Given the description of an element on the screen output the (x, y) to click on. 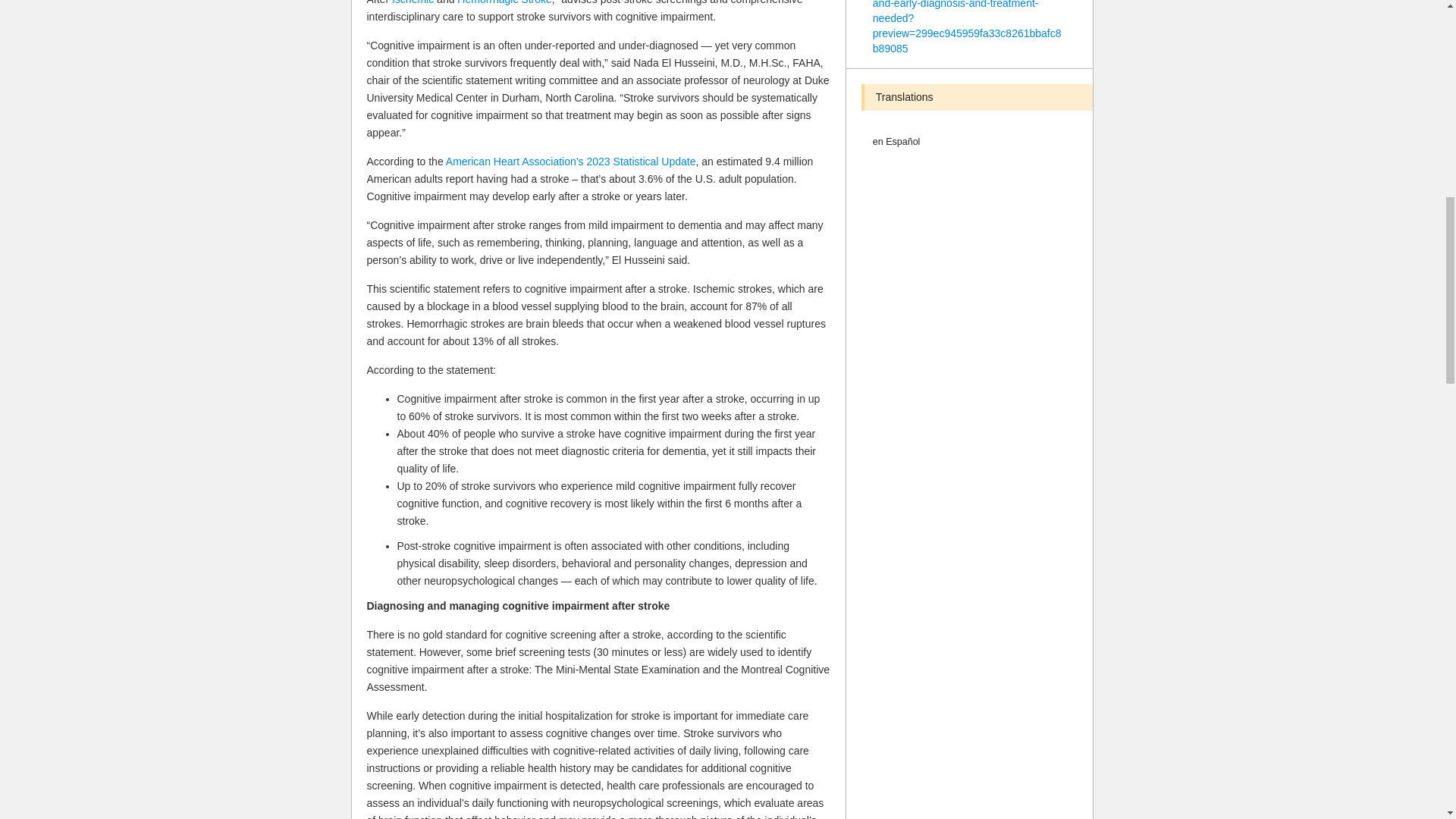
Ischemic (412, 2)
Hemorrhagic Stroke (504, 2)
